Given the description of an element on the screen output the (x, y) to click on. 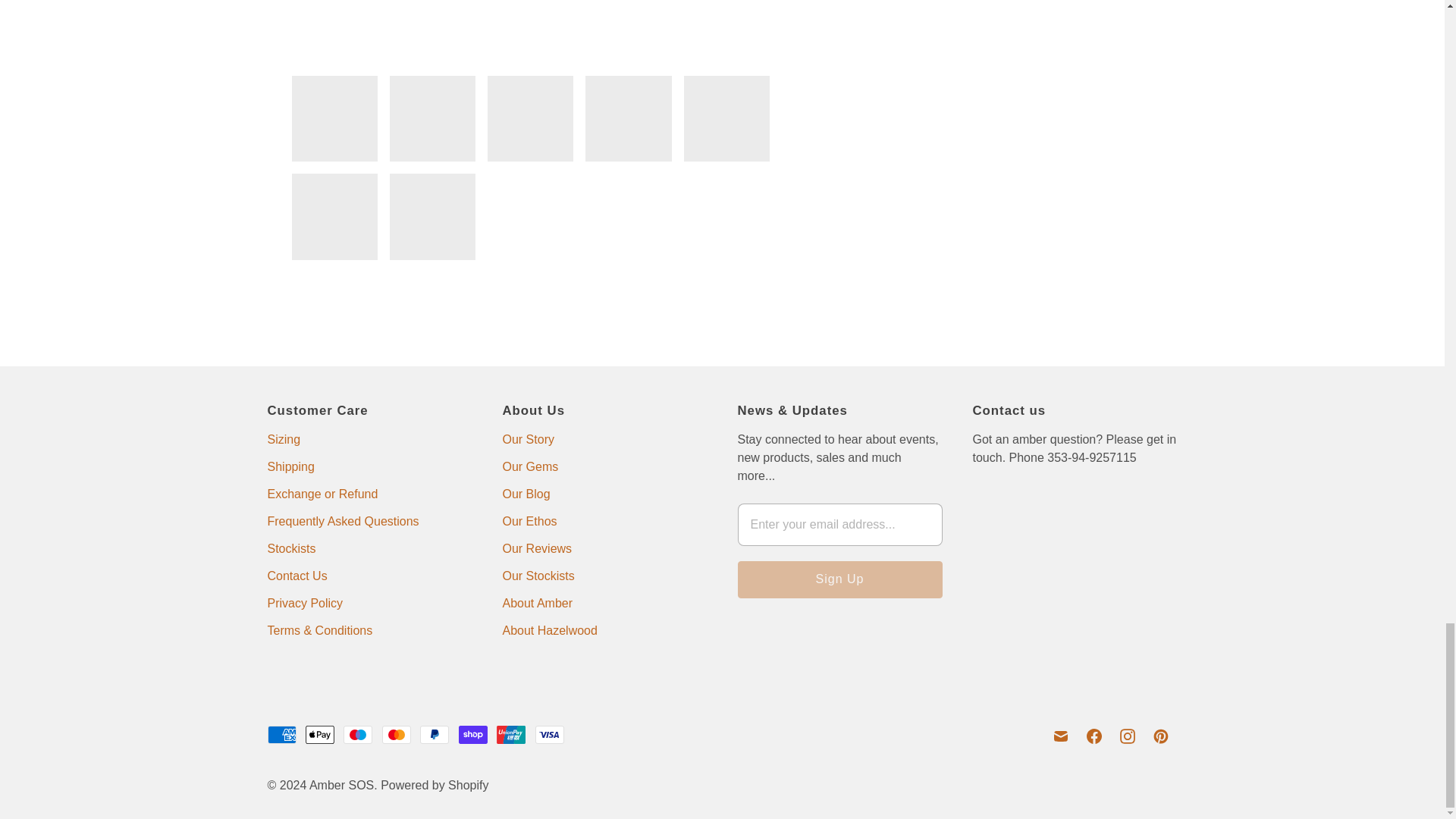
American Express (280, 734)
PayPal (434, 734)
Visa (549, 734)
Sign Up (839, 579)
Apple Pay (319, 734)
Union Pay (510, 734)
Shop Pay (472, 734)
Maestro (357, 734)
Mastercard (395, 734)
